Given the description of an element on the screen output the (x, y) to click on. 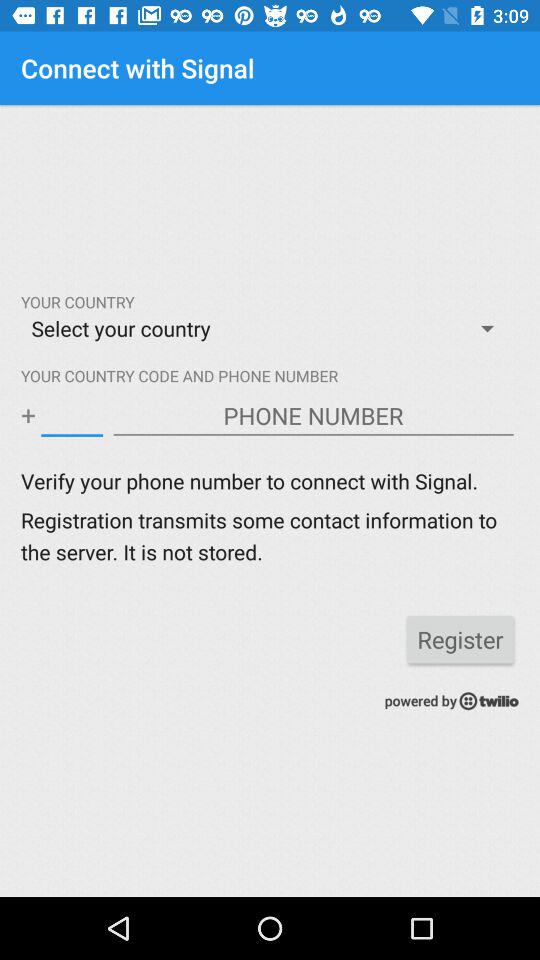
enter the code (72, 415)
